Given the description of an element on the screen output the (x, y) to click on. 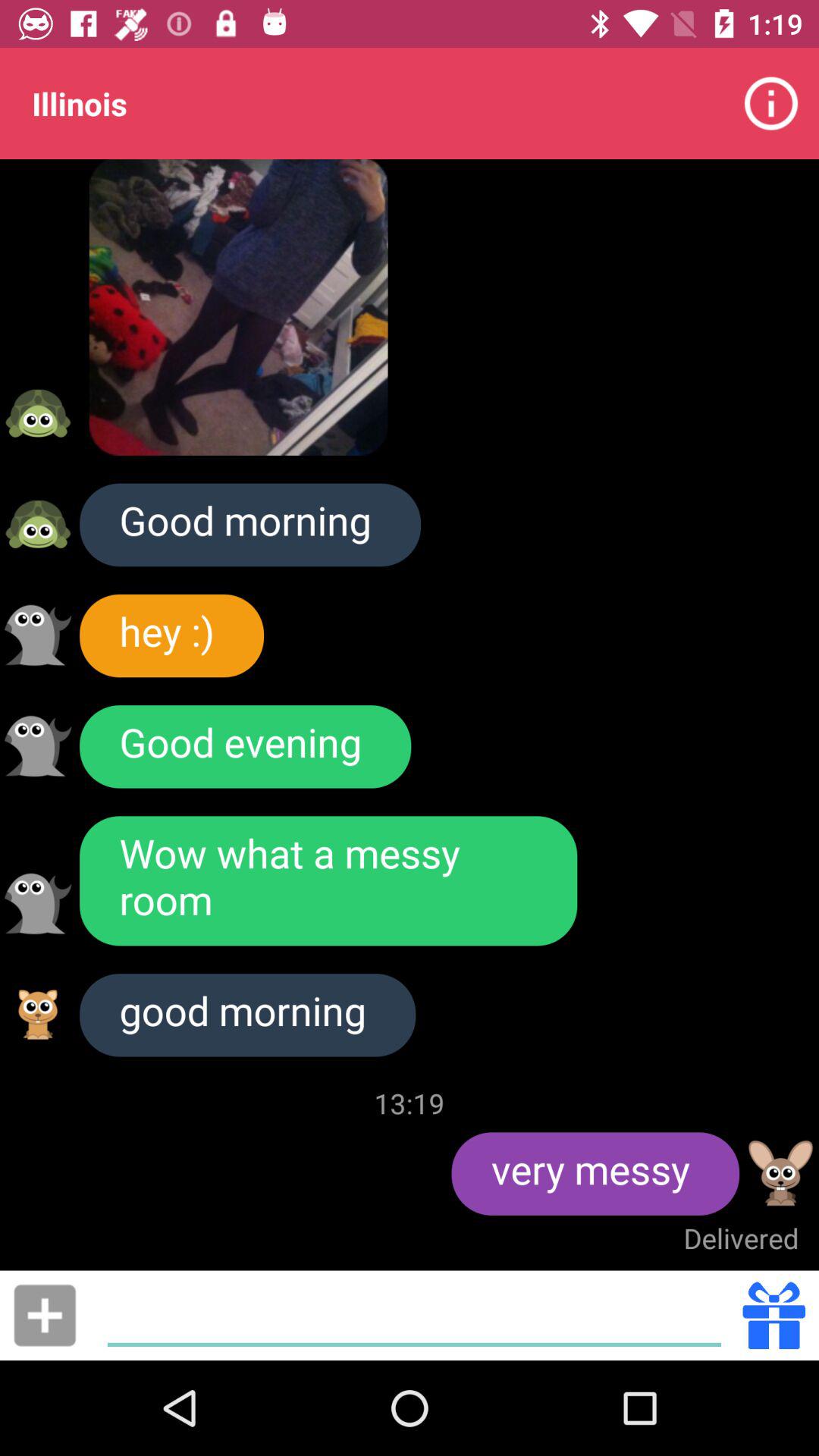
jump until wow what a (328, 880)
